Given the description of an element on the screen output the (x, y) to click on. 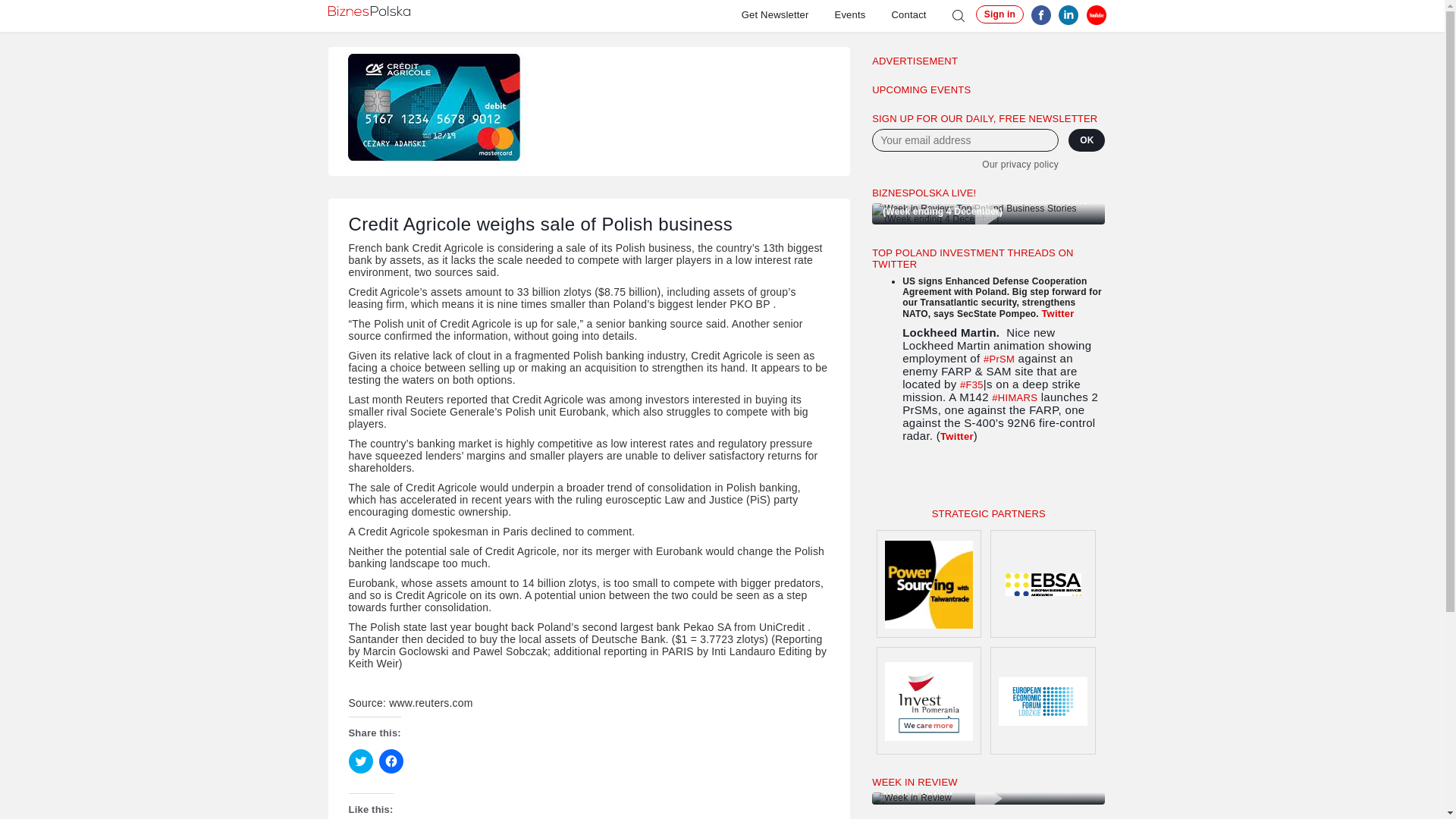
Get Newsletter (787, 14)
Our privacy policy (965, 163)
Twitter (957, 436)
OK (1086, 139)
Biznes Polska (368, 10)
Click to share on Facebook (390, 761)
Events (862, 14)
Week in Review (988, 798)
SIGN UP (911, 479)
OK (1086, 139)
Contact (921, 14)
Get Newsletter (787, 14)
Contact (921, 14)
Sign in (999, 13)
Twitter (1057, 313)
